Given the description of an element on the screen output the (x, y) to click on. 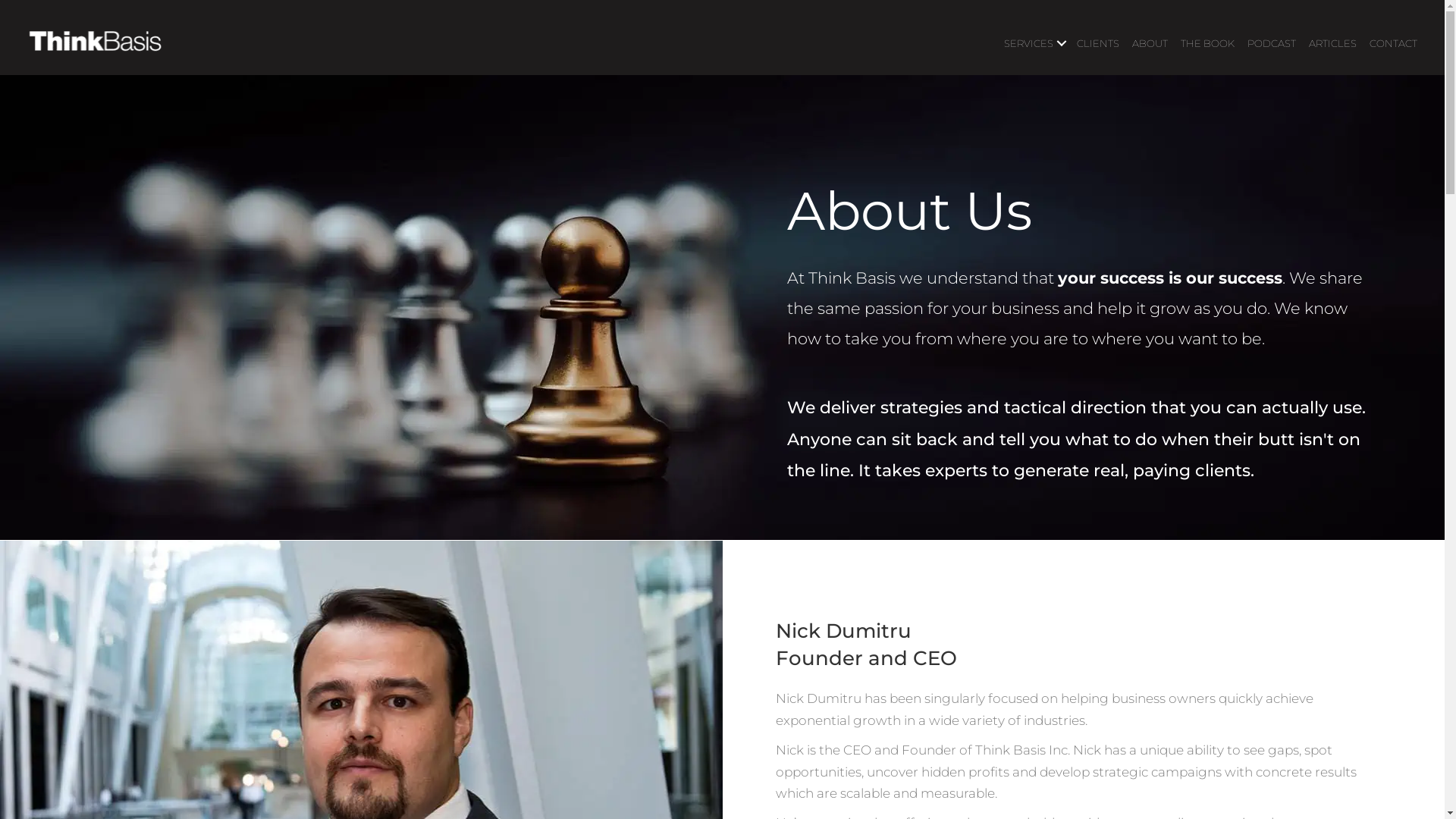
ABOUT Element type: text (1149, 43)
CLIENTS Element type: text (1097, 43)
PODCAST Element type: text (1271, 43)
THE BOOK Element type: text (1207, 43)
SERVICES Element type: text (1033, 43)
ARTICLES Element type: text (1332, 43)
CONTACT Element type: text (1393, 43)
